Given the description of an element on the screen output the (x, y) to click on. 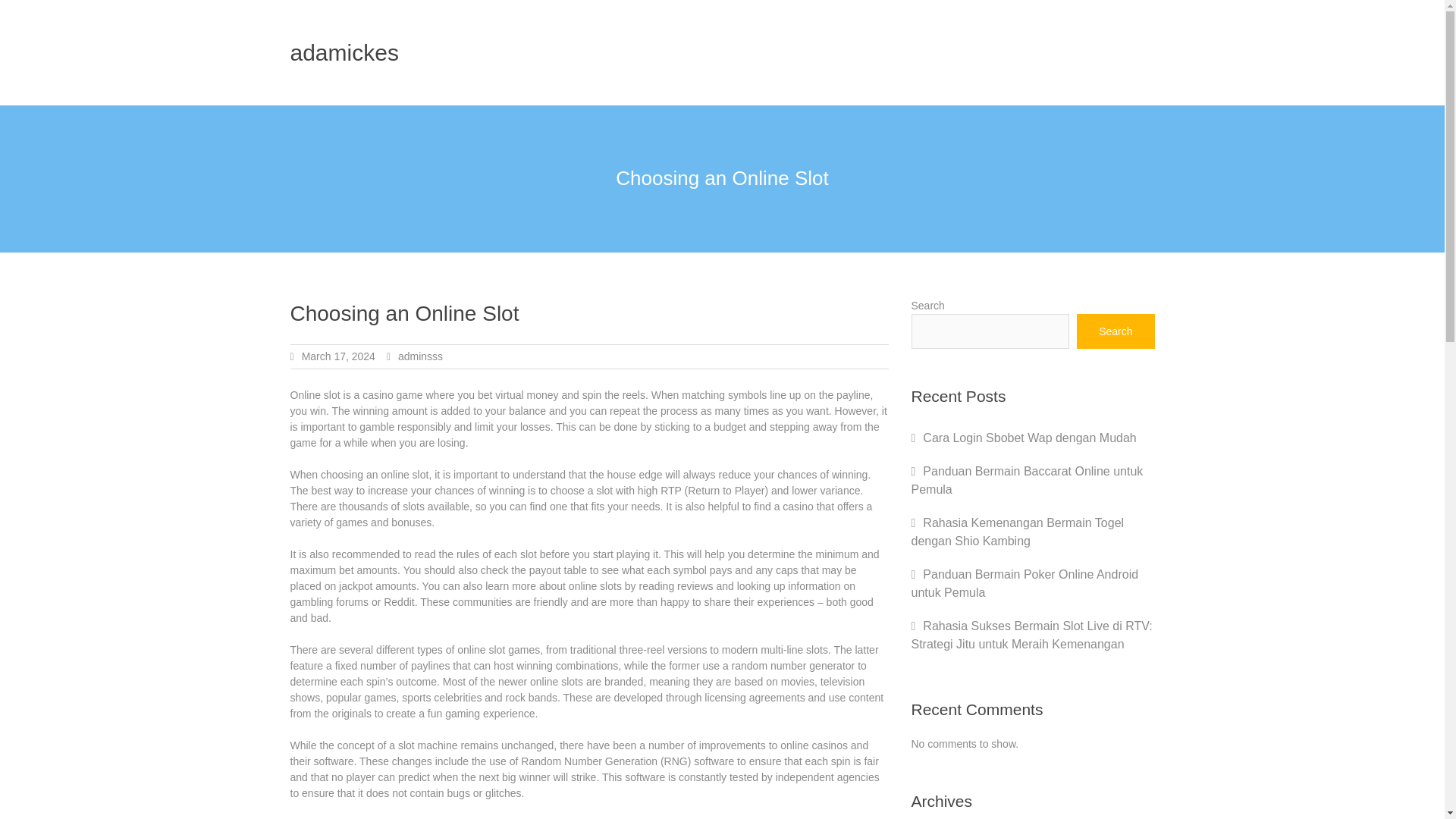
Cara Login Sbobet Wap dengan Mudah (1029, 437)
Panduan Bermain Poker Online Android untuk Pemula (1024, 583)
March 17, 2024 (338, 356)
adminsss (419, 356)
Panduan Bermain Baccarat Online untuk Pemula (1026, 480)
adamickes (343, 52)
Rahasia Kemenangan Bermain Togel dengan Shio Kambing (1017, 531)
Search (1115, 330)
